Given the description of an element on the screen output the (x, y) to click on. 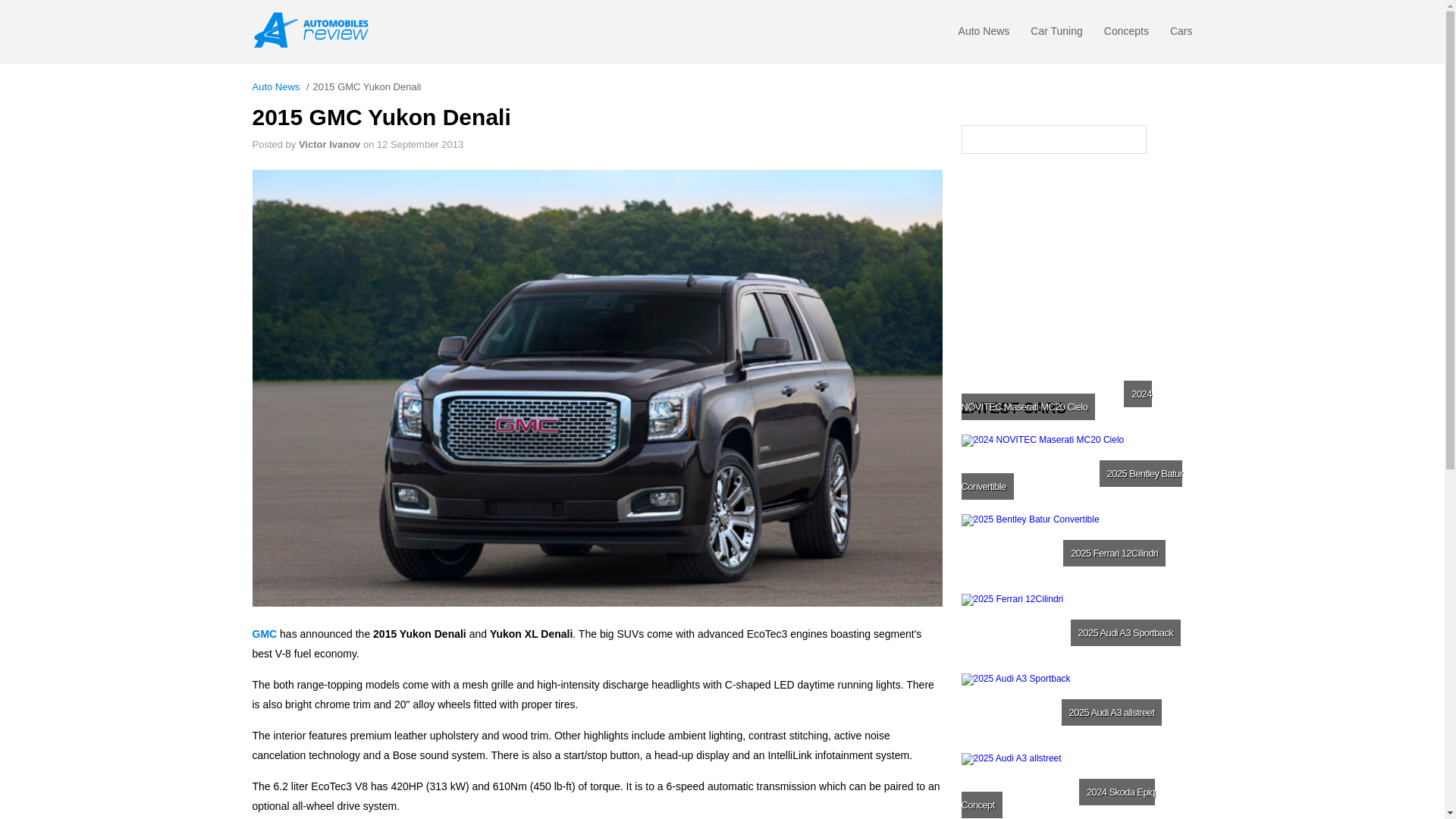
Ferrari 12Cilindri (1074, 630)
LATEST CARS (1076, 407)
Bentley Batur Convertible (1074, 550)
Car Tuning (1055, 35)
NOVITEC Maserati MC20 Cielo (1074, 471)
Cars (1181, 35)
Concepts (1125, 35)
Audi A3 allstreet (1074, 785)
Concepts (1125, 35)
Auto News (984, 35)
